Given the description of an element on the screen output the (x, y) to click on. 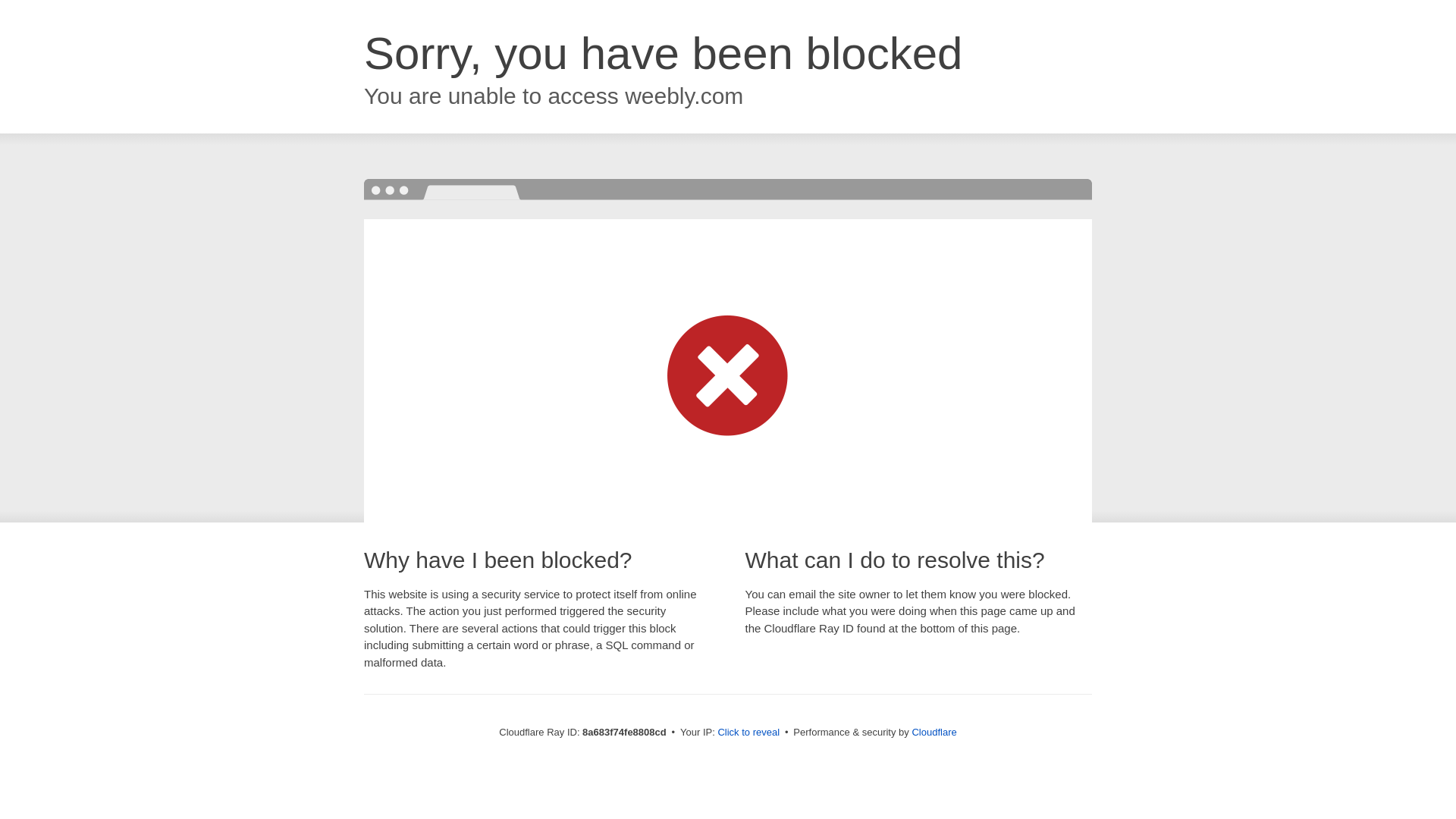
Cloudflare (933, 731)
Click to reveal (747, 732)
